Given the description of an element on the screen output the (x, y) to click on. 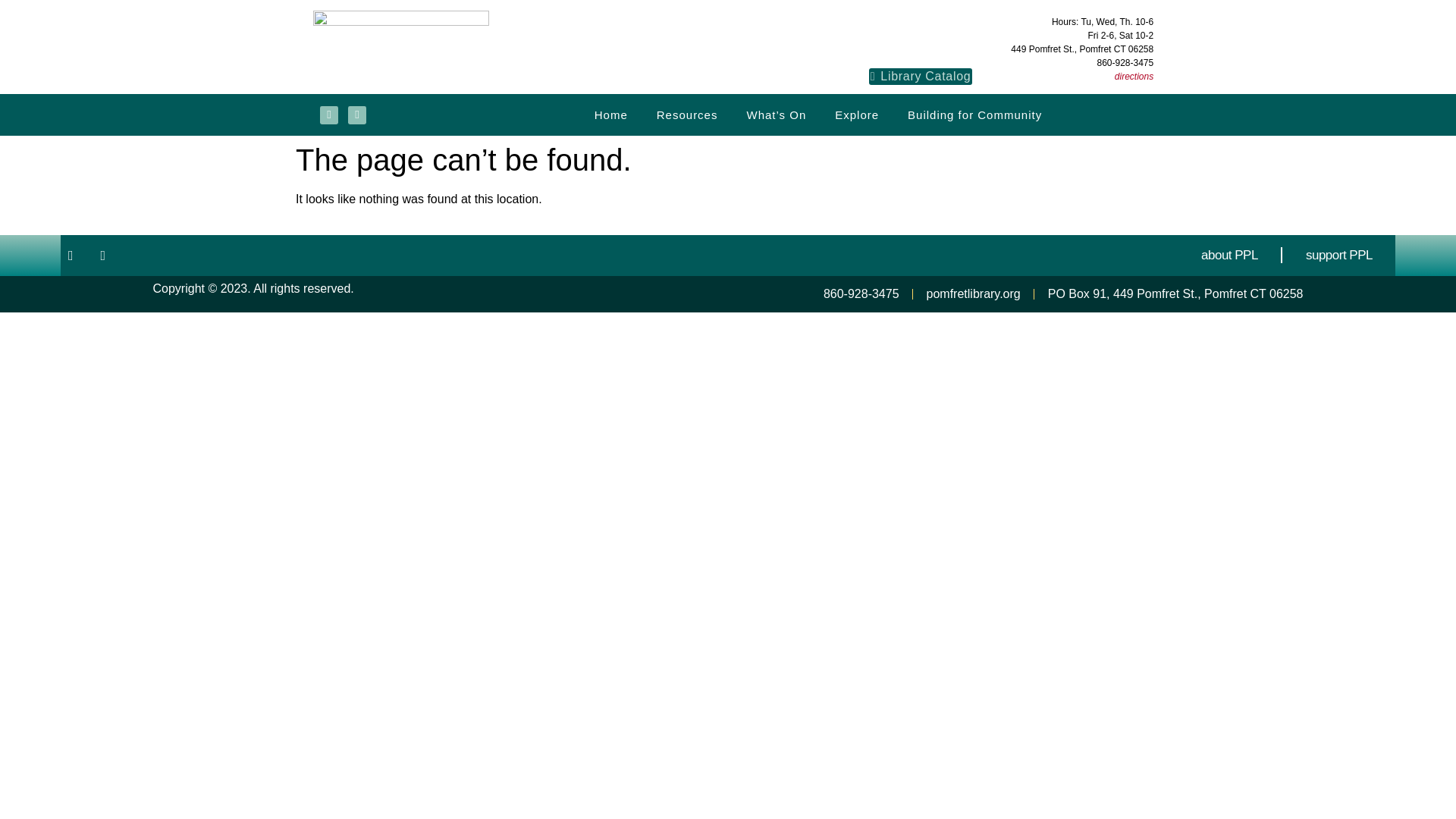
Resources (686, 114)
Building for Community (974, 114)
Home (610, 114)
directions (1134, 76)
Explore (856, 114)
Library Catalog (920, 76)
